Given the description of an element on the screen output the (x, y) to click on. 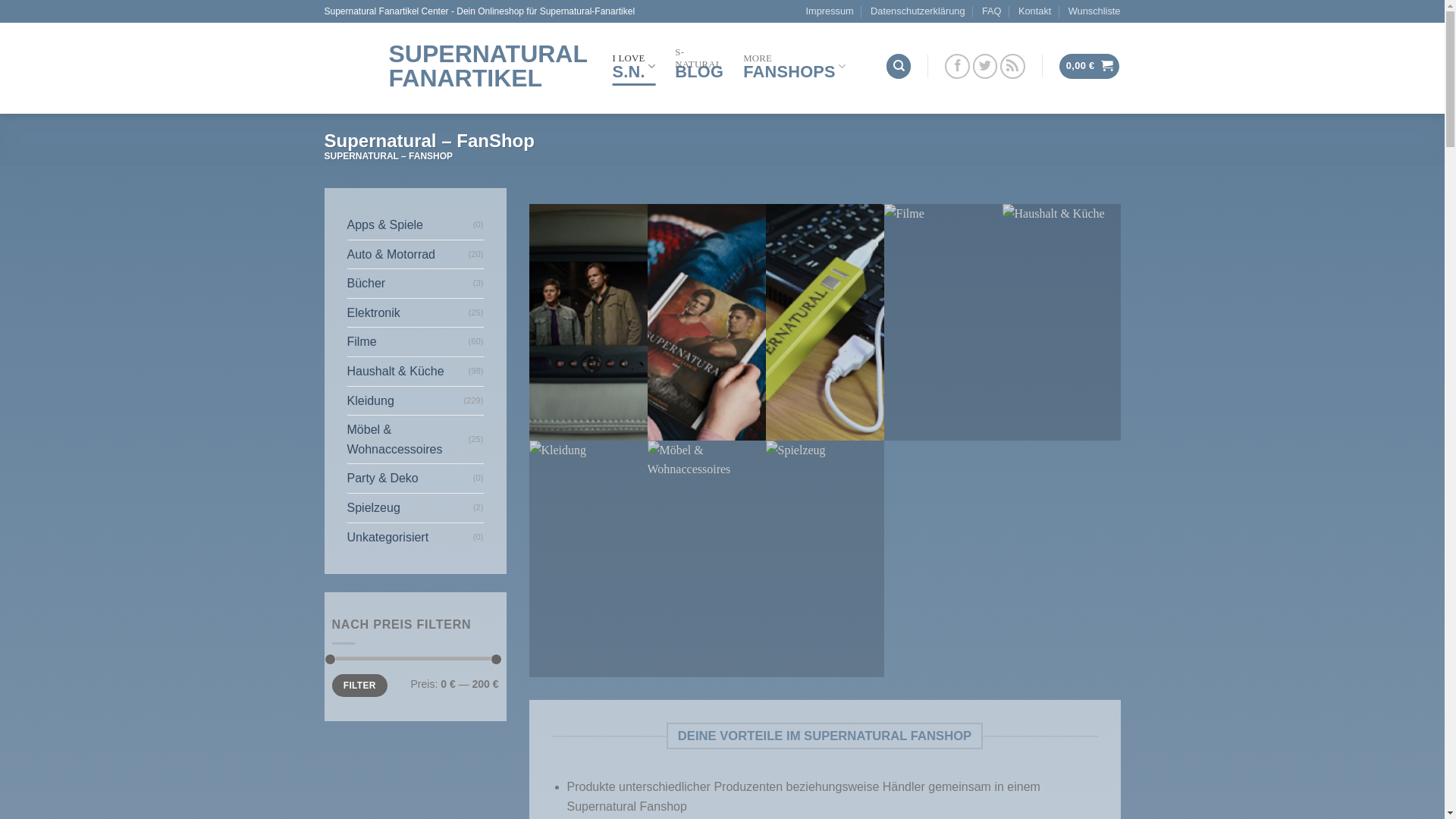
Wunschliste Element type: text (1094, 11)
Kleidung Element type: text (405, 400)
Party & Deko Element type: text (410, 478)
Unkategorisiert Element type: text (410, 537)
Impressum Element type: text (829, 11)
Filme Element type: text (407, 341)
SUPERNATURAL FANARTIKEL Element type: text (456, 65)
Folge uns auf Twitter Element type: hover (984, 65)
I LOVE
S.N. Element type: text (633, 65)
Spielzeug Element type: text (410, 507)
Abonniere RSS Element type: hover (1012, 65)
Folge uns auf Facebook Element type: hover (956, 65)
Auto & Motorrad Element type: text (407, 254)
FILTER Element type: text (359, 685)
Apps & Spiele Element type: text (410, 224)
Kontakt Element type: text (1034, 11)
Elektronik Element type: text (407, 312)
MORE
FANSHOPS Element type: text (794, 65)
FAQ Element type: text (991, 11)
S-NATURAL
BLOG Element type: text (698, 65)
